Given the description of an element on the screen output the (x, y) to click on. 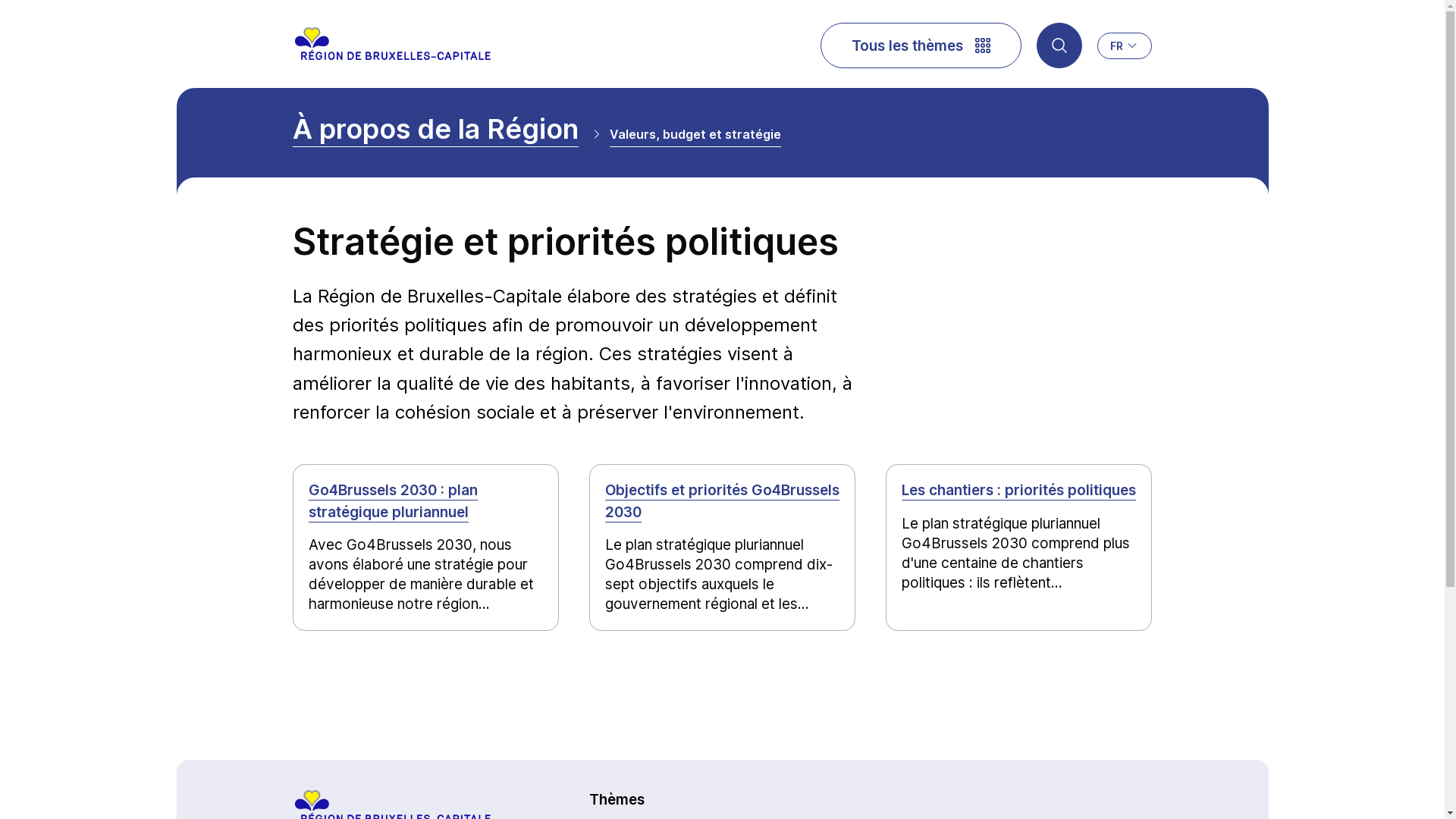
FR Element type: text (1124, 44)
